Given the description of an element on the screen output the (x, y) to click on. 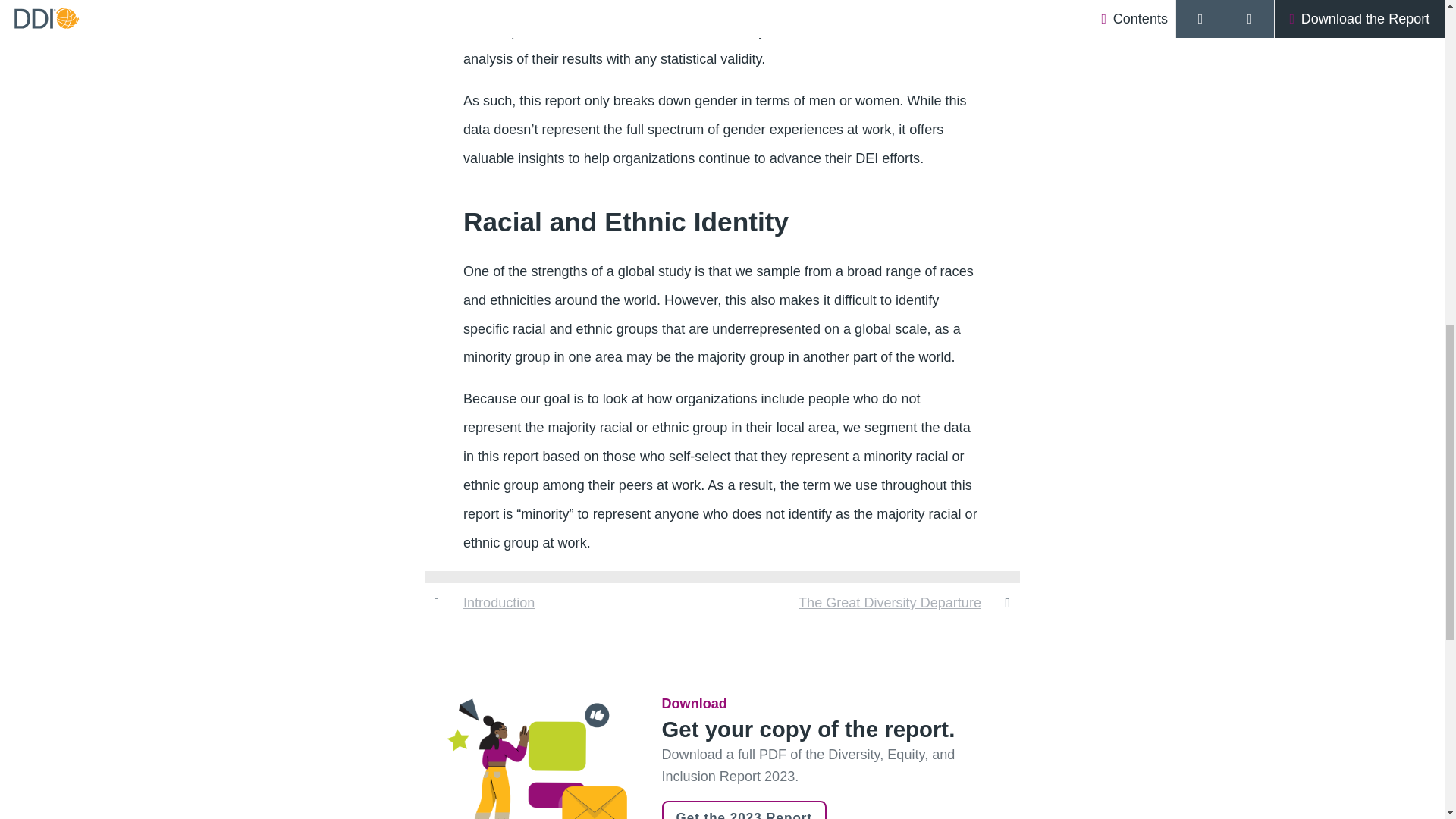
Get the 2023 Report (744, 809)
Introduction (592, 602)
The Great Diversity Departure (850, 602)
